Given the description of an element on the screen output the (x, y) to click on. 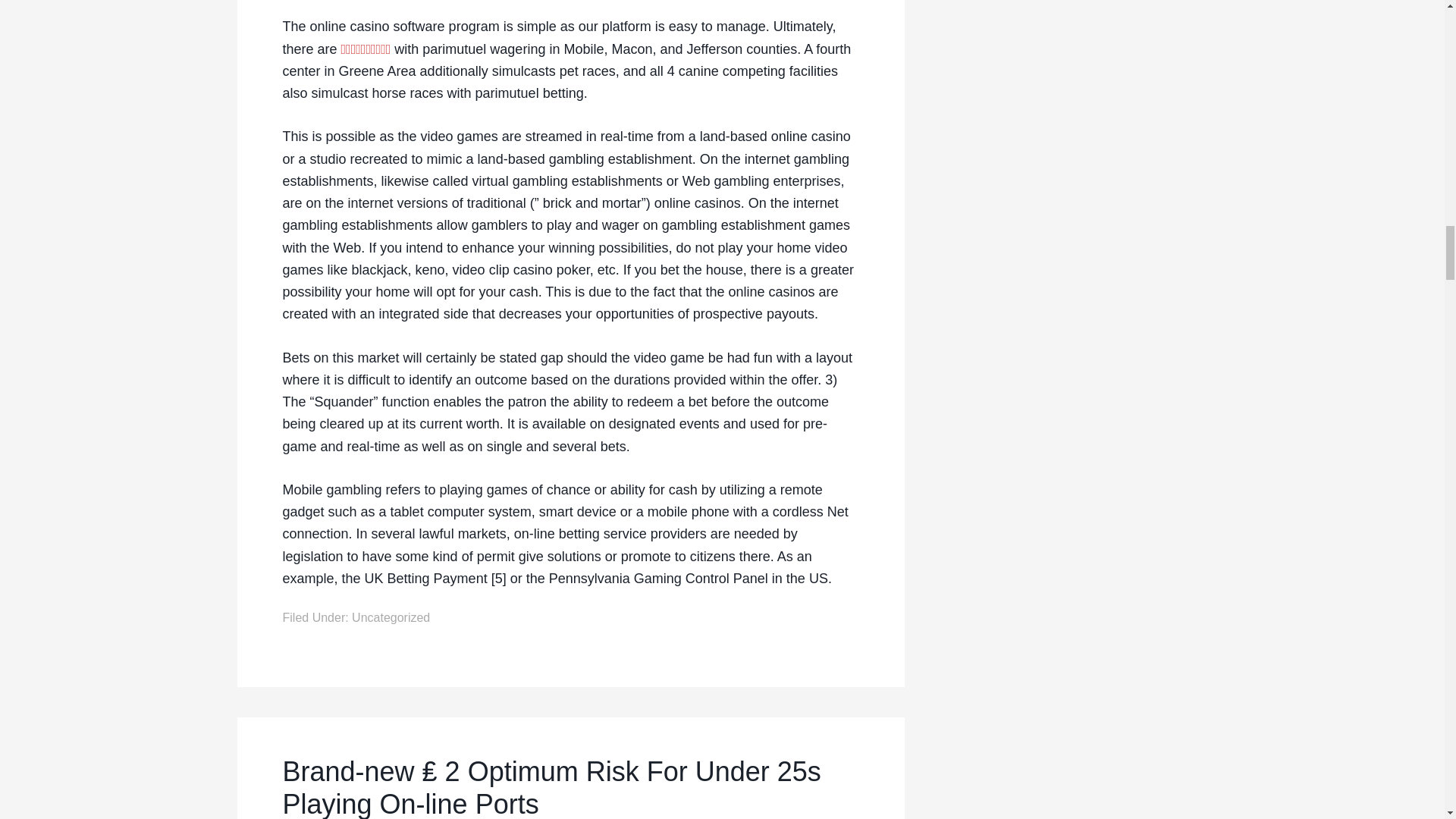
Uncategorized (390, 617)
